Given the description of an element on the screen output the (x, y) to click on. 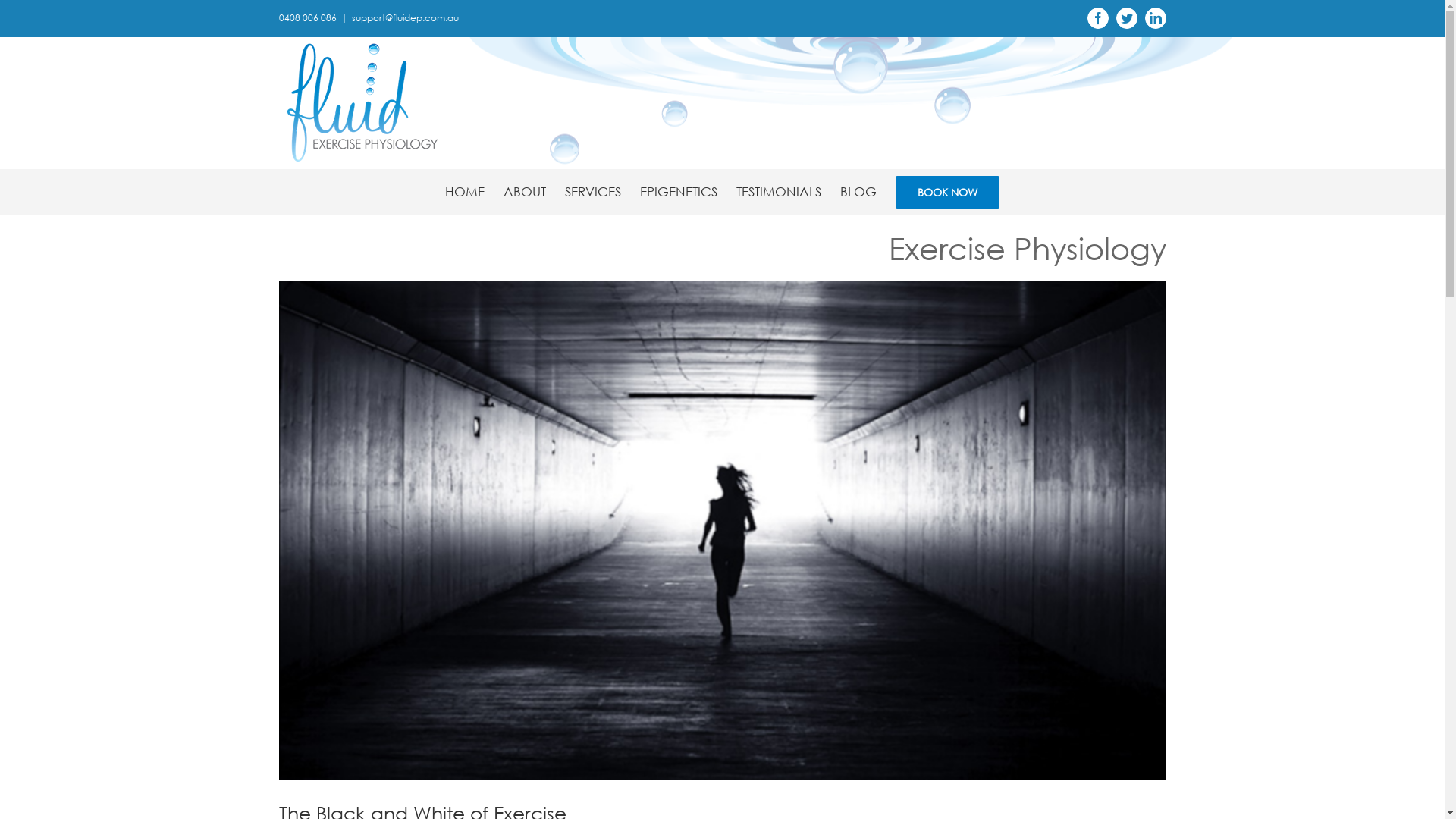
Facebook Element type: text (1097, 17)
Linkedin Element type: text (1155, 17)
EPIGENETICS Element type: text (678, 191)
ABOUT Element type: text (524, 191)
SERVICES Element type: text (592, 191)
BOOK NOW Element type: text (947, 191)
HOME Element type: text (464, 191)
Twitter Element type: text (1126, 17)
TESTIMONIALS Element type: text (778, 191)
support@fluidep.com.au Element type: text (404, 17)
BLOG Element type: text (858, 191)
